Given the description of an element on the screen output the (x, y) to click on. 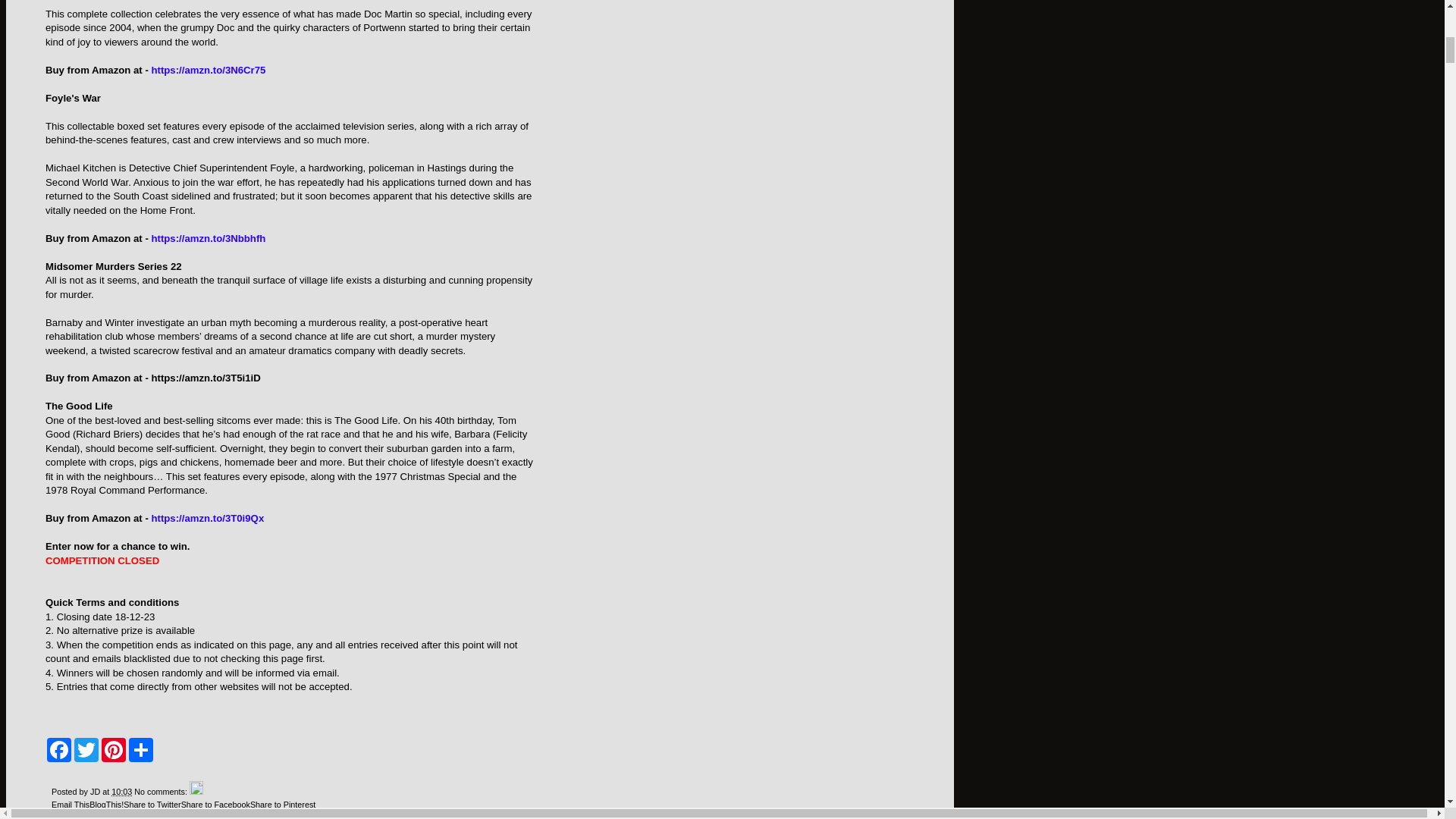
BlogThis! (105, 804)
permanent link (122, 791)
Share to Pinterest (282, 804)
Email This (69, 804)
Twitter (86, 749)
Share to Twitter (151, 804)
Edit Post (196, 791)
Pinterest (114, 749)
Facebook (58, 749)
Share to Twitter (151, 804)
BlogThis! (105, 804)
10:03 (122, 791)
Share to Pinterest (282, 804)
Email This (69, 804)
Share to Facebook (215, 804)
